Given the description of an element on the screen output the (x, y) to click on. 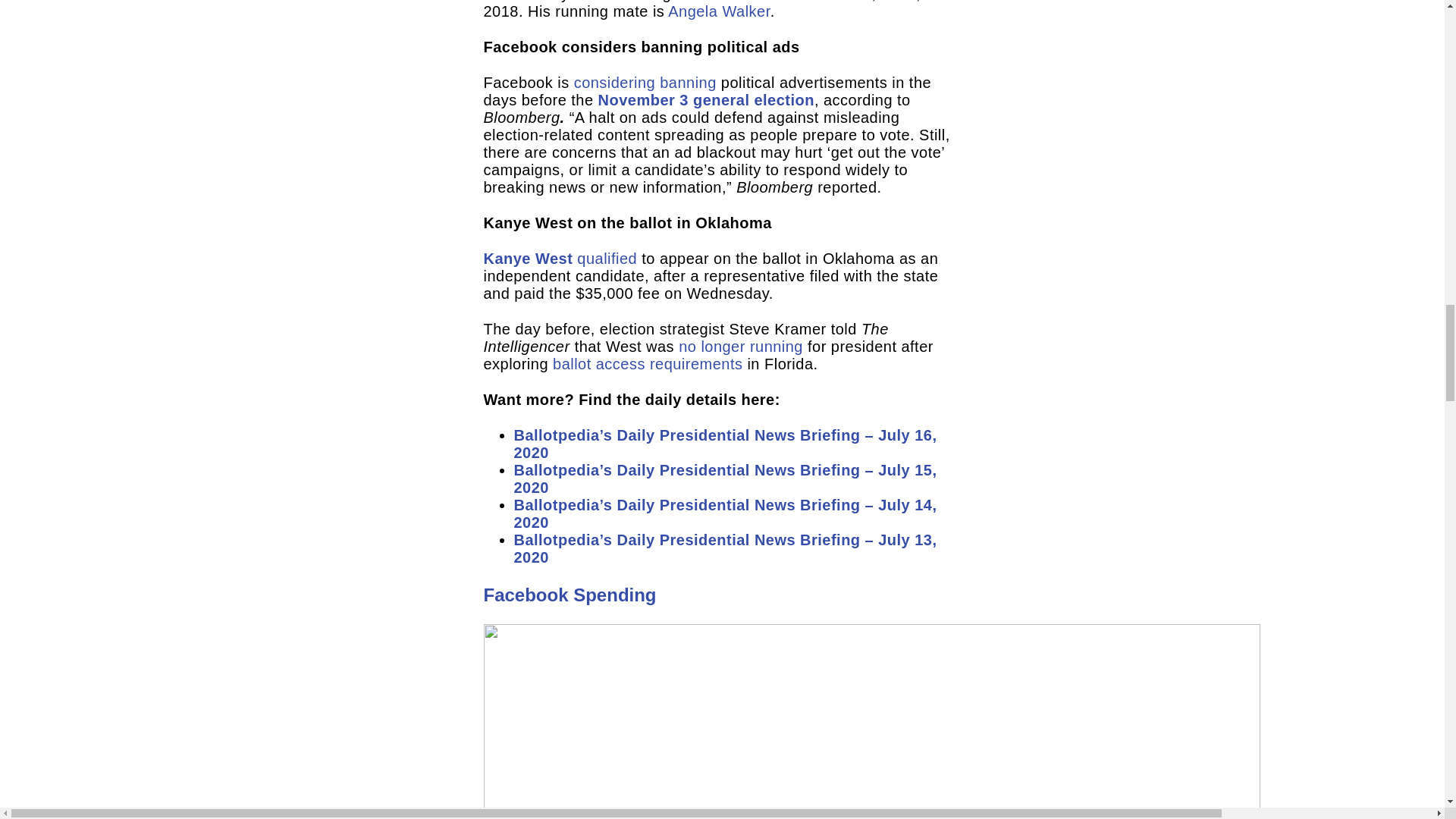
Angela Walker (719, 11)
qualified (606, 258)
no longer running (740, 346)
Kanye West (528, 258)
November 3 general election (705, 99)
considering banning (644, 82)
